Given the description of an element on the screen output the (x, y) to click on. 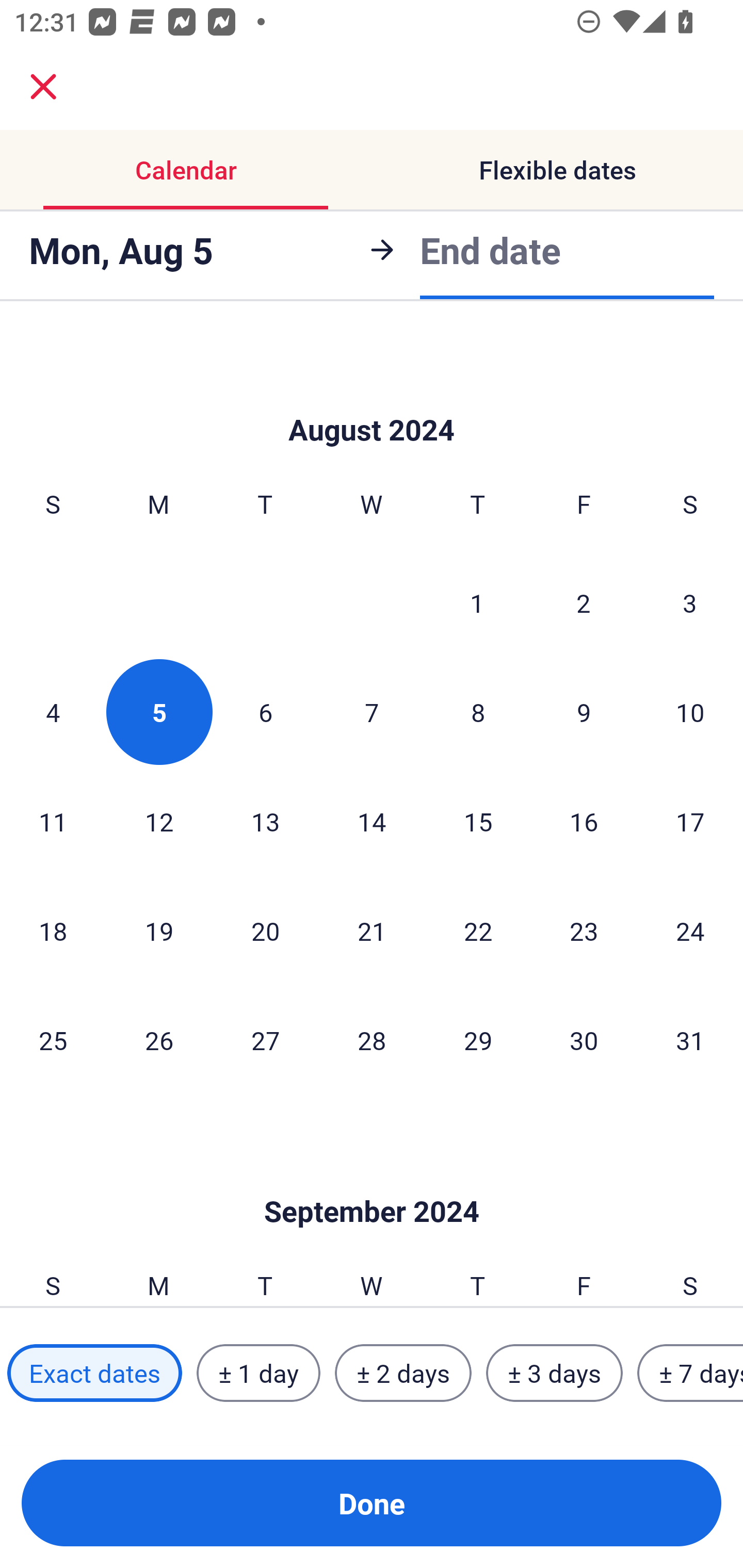
close. (43, 86)
Flexible dates (557, 170)
End date (489, 249)
Skip to Done (371, 398)
1 Thursday, August 1, 2024 (477, 602)
2 Friday, August 2, 2024 (583, 602)
3 Saturday, August 3, 2024 (689, 602)
4 Sunday, August 4, 2024 (53, 711)
6 Tuesday, August 6, 2024 (265, 711)
7 Wednesday, August 7, 2024 (371, 711)
8 Thursday, August 8, 2024 (477, 711)
9 Friday, August 9, 2024 (584, 711)
10 Saturday, August 10, 2024 (690, 711)
11 Sunday, August 11, 2024 (53, 821)
12 Monday, August 12, 2024 (159, 821)
13 Tuesday, August 13, 2024 (265, 821)
14 Wednesday, August 14, 2024 (371, 821)
15 Thursday, August 15, 2024 (477, 821)
16 Friday, August 16, 2024 (584, 821)
17 Saturday, August 17, 2024 (690, 821)
18 Sunday, August 18, 2024 (53, 930)
19 Monday, August 19, 2024 (159, 930)
20 Tuesday, August 20, 2024 (265, 930)
21 Wednesday, August 21, 2024 (371, 930)
22 Thursday, August 22, 2024 (477, 930)
23 Friday, August 23, 2024 (584, 930)
24 Saturday, August 24, 2024 (690, 930)
25 Sunday, August 25, 2024 (53, 1039)
26 Monday, August 26, 2024 (159, 1039)
27 Tuesday, August 27, 2024 (265, 1039)
28 Wednesday, August 28, 2024 (371, 1039)
29 Thursday, August 29, 2024 (477, 1039)
30 Friday, August 30, 2024 (584, 1039)
31 Saturday, August 31, 2024 (690, 1039)
Skip to Done (371, 1180)
Exact dates (94, 1372)
± 1 day (258, 1372)
± 2 days (403, 1372)
± 3 days (553, 1372)
± 7 days (690, 1372)
Done (371, 1502)
